Given the description of an element on the screen output the (x, y) to click on. 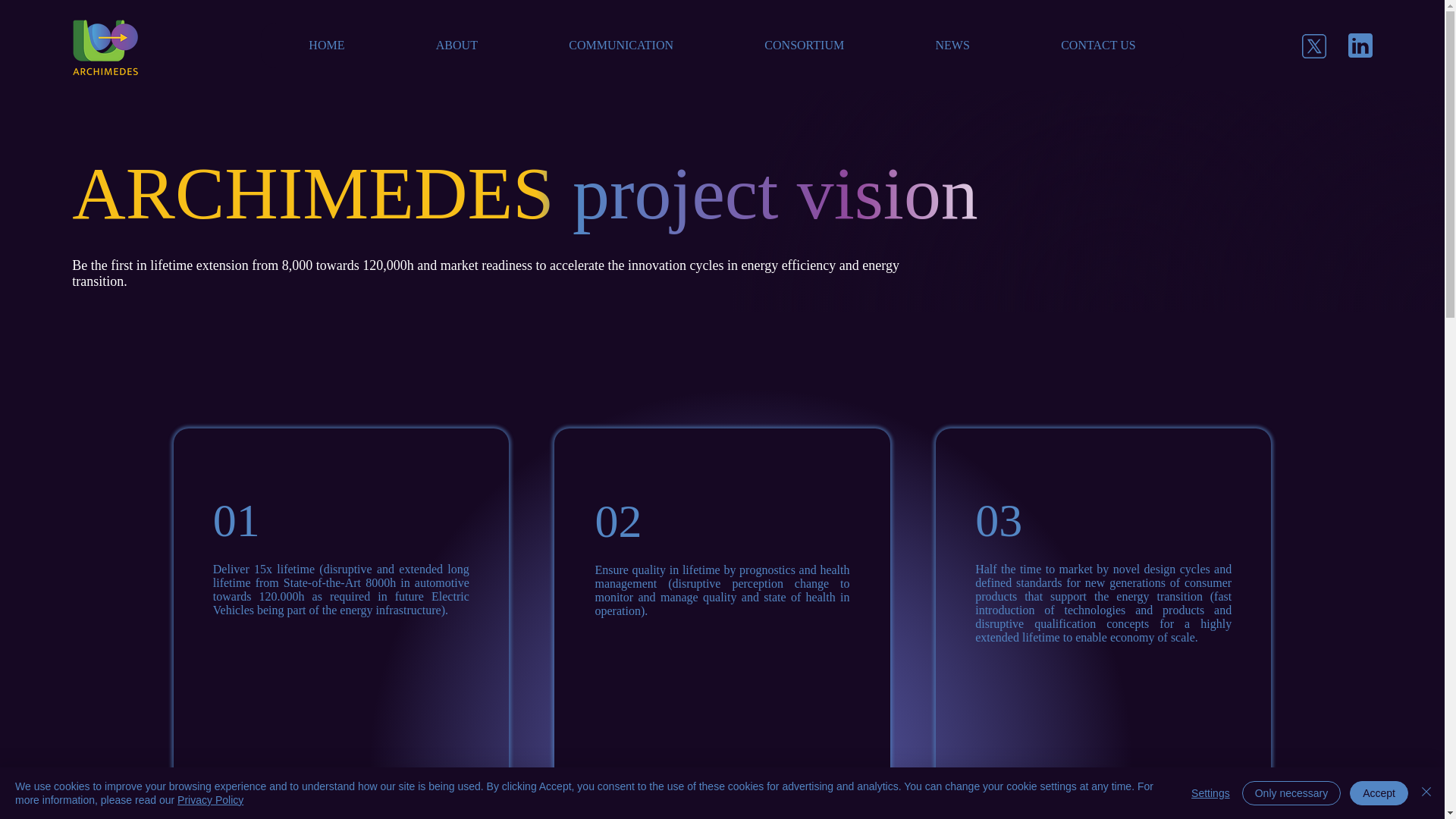
Privacy Policy (210, 799)
HOME (325, 45)
NEWS (952, 45)
Only necessary (571, 204)
CONSORTIUM (1290, 793)
CONTACT US (803, 45)
Accept (721, 44)
